Given the description of an element on the screen output the (x, y) to click on. 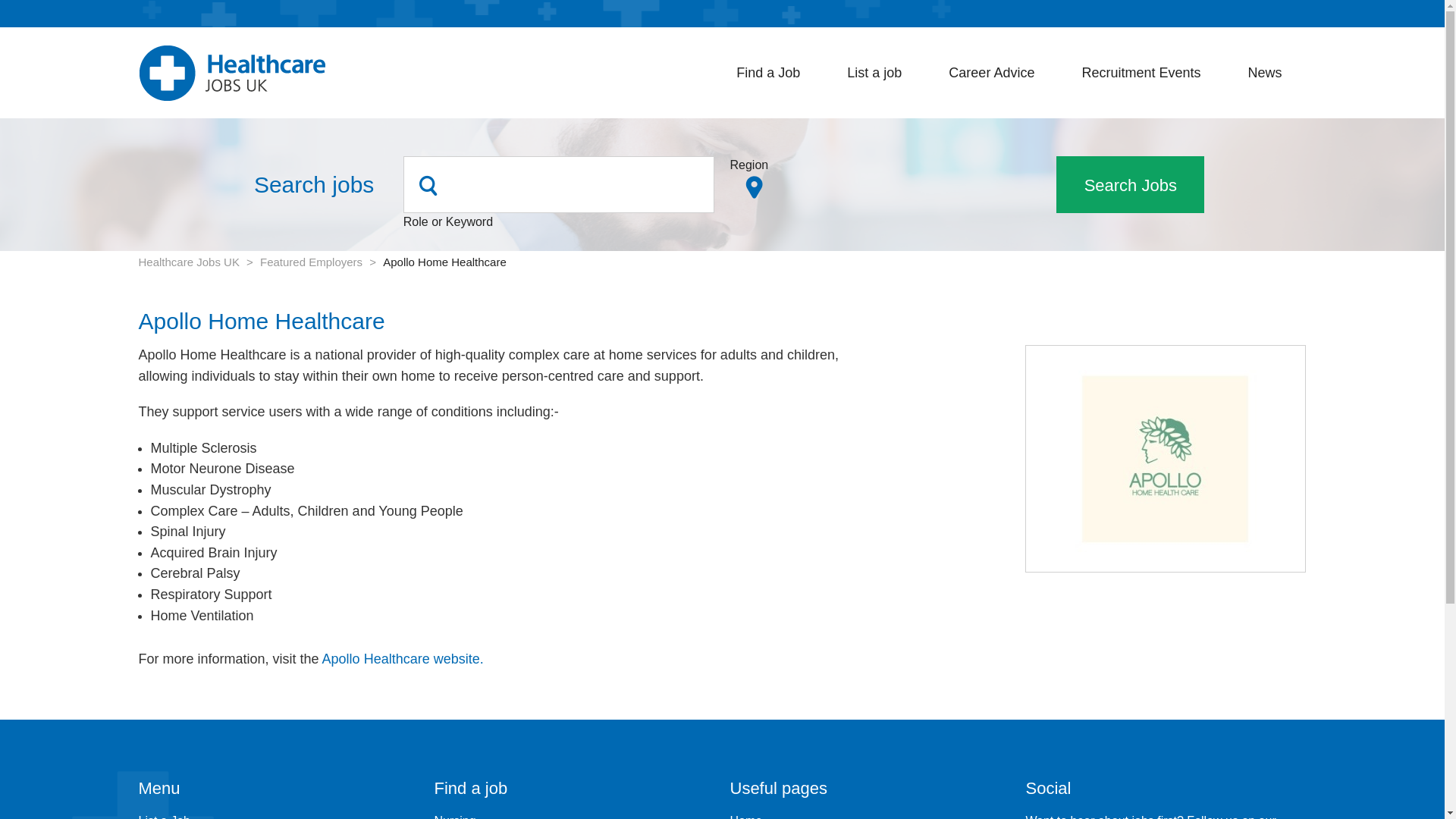
Apollo Healthcare website. (402, 658)
Search Jobs (1130, 184)
Social (1165, 788)
Useful pages (869, 788)
List a Job (163, 816)
Find a job (573, 788)
Home (745, 816)
Healthcare Jobs UK (231, 72)
Featured Employers (311, 261)
News (1272, 72)
Healthcare Recruitment Events (1148, 72)
Recruitment News from Healthcare Jobs (1272, 72)
Nursing (454, 816)
Career Advice (999, 72)
List a job (882, 72)
